Given the description of an element on the screen output the (x, y) to click on. 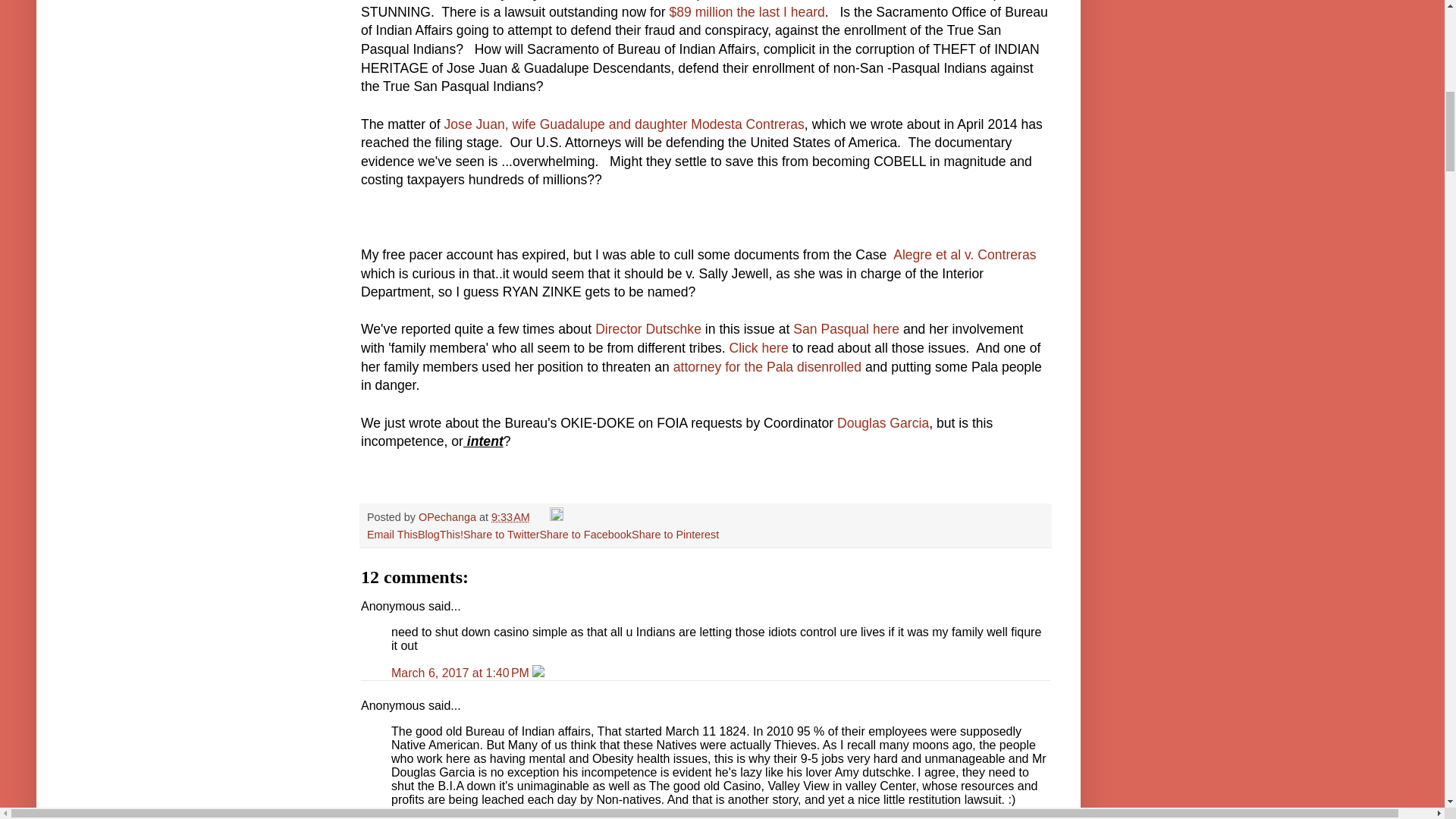
Share to Twitter (501, 534)
permanent link (510, 517)
Alegre et al v. Contreras (964, 254)
Share to Facebook (584, 534)
Click here (760, 347)
Share to Pinterest (675, 534)
Share to Facebook (584, 534)
Email This (391, 534)
Director Dutschke (649, 328)
BlogThis! (440, 534)
Share to Pinterest (675, 534)
Delete Comment (538, 672)
Jose Juan, wife Guadalupe and daughter Modesta Contreras (624, 124)
